Given the description of an element on the screen output the (x, y) to click on. 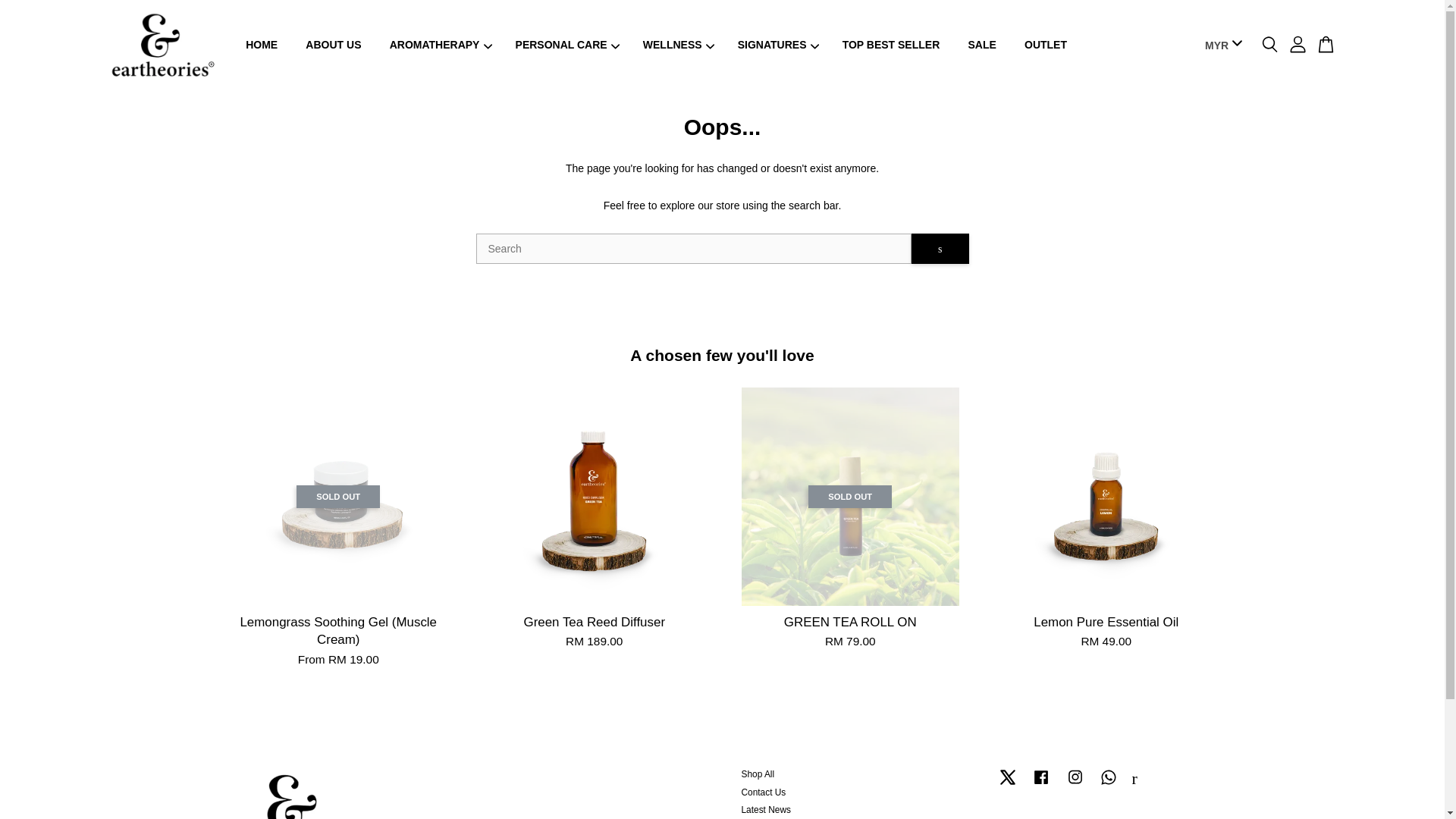
icon-instagram (1075, 776)
icon-facebook (1040, 776)
AROMATHERAPY (438, 44)
Eartheories on Twitter (1007, 784)
Eartheories on Instagram (1075, 784)
icon-whatsapp (1108, 776)
Eartheories on Facebook (1040, 784)
ABOUT US (334, 44)
WELLNESS (676, 44)
Eartheories on Whatsapp (1108, 784)
PERSONAL CARE (564, 44)
HOME (260, 44)
